Given the description of an element on the screen output the (x, y) to click on. 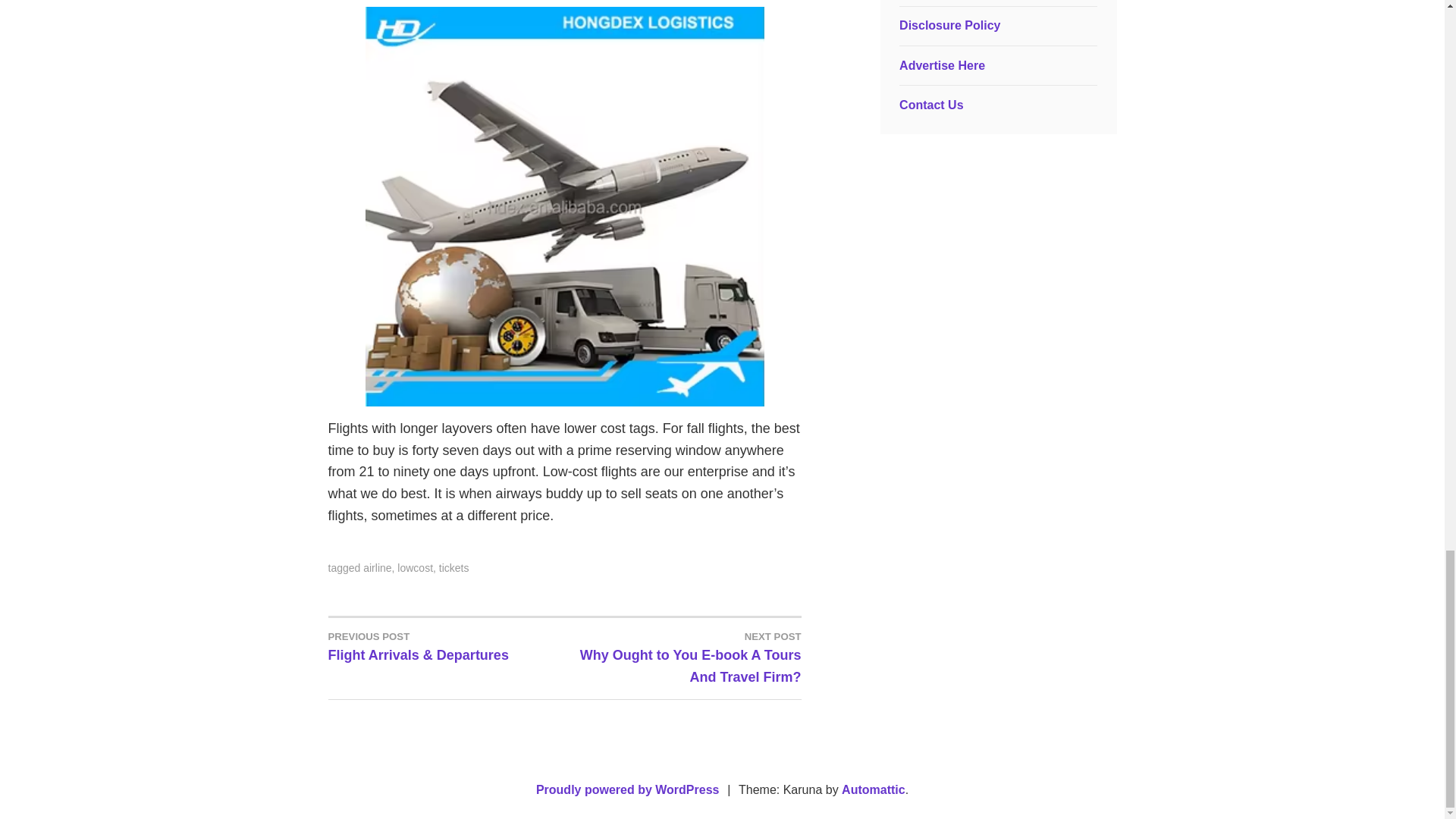
airline (376, 567)
lowcost (682, 656)
tickets (414, 567)
